Given the description of an element on the screen output the (x, y) to click on. 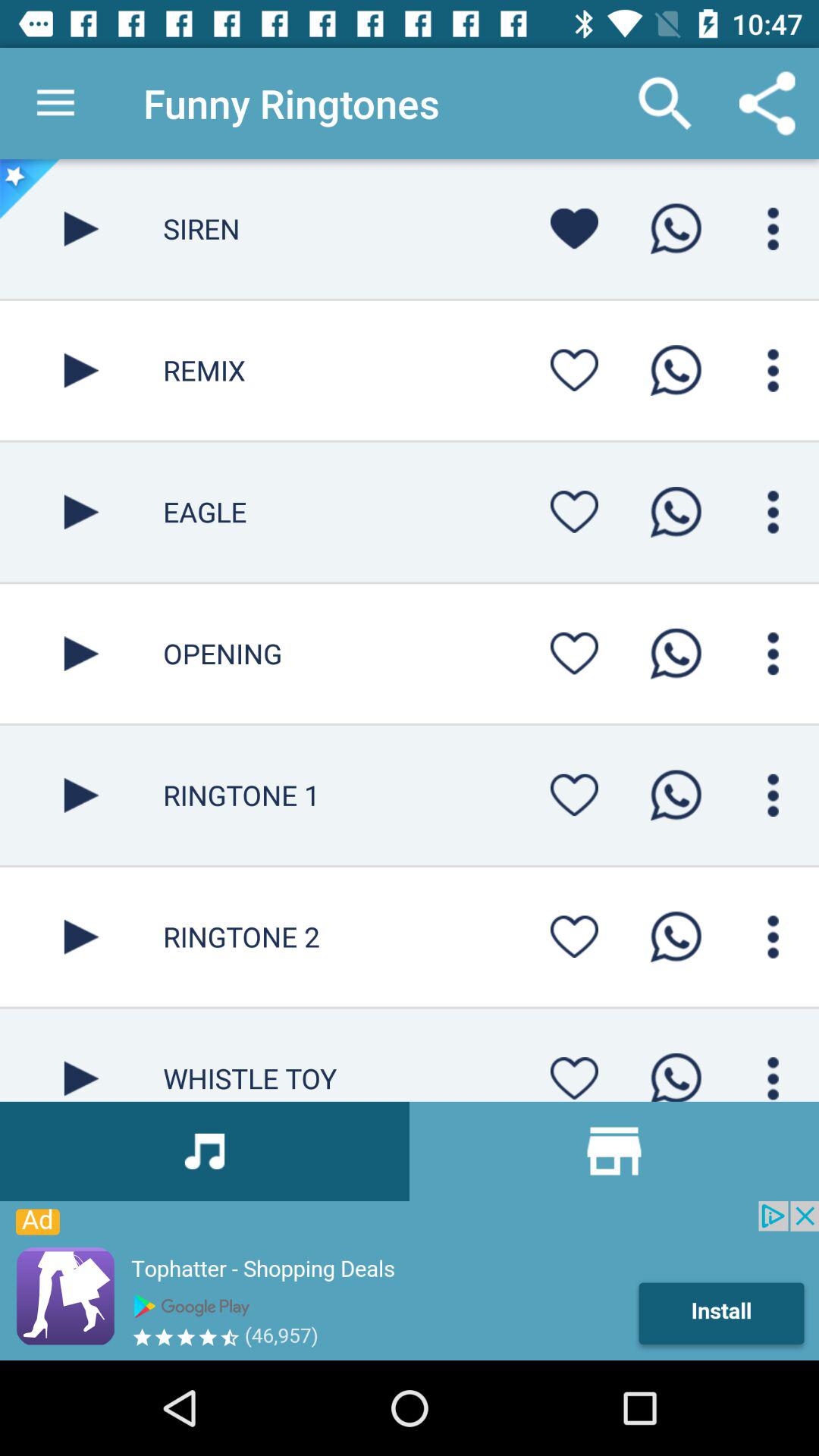
opening (675, 653)
